Given the description of an element on the screen output the (x, y) to click on. 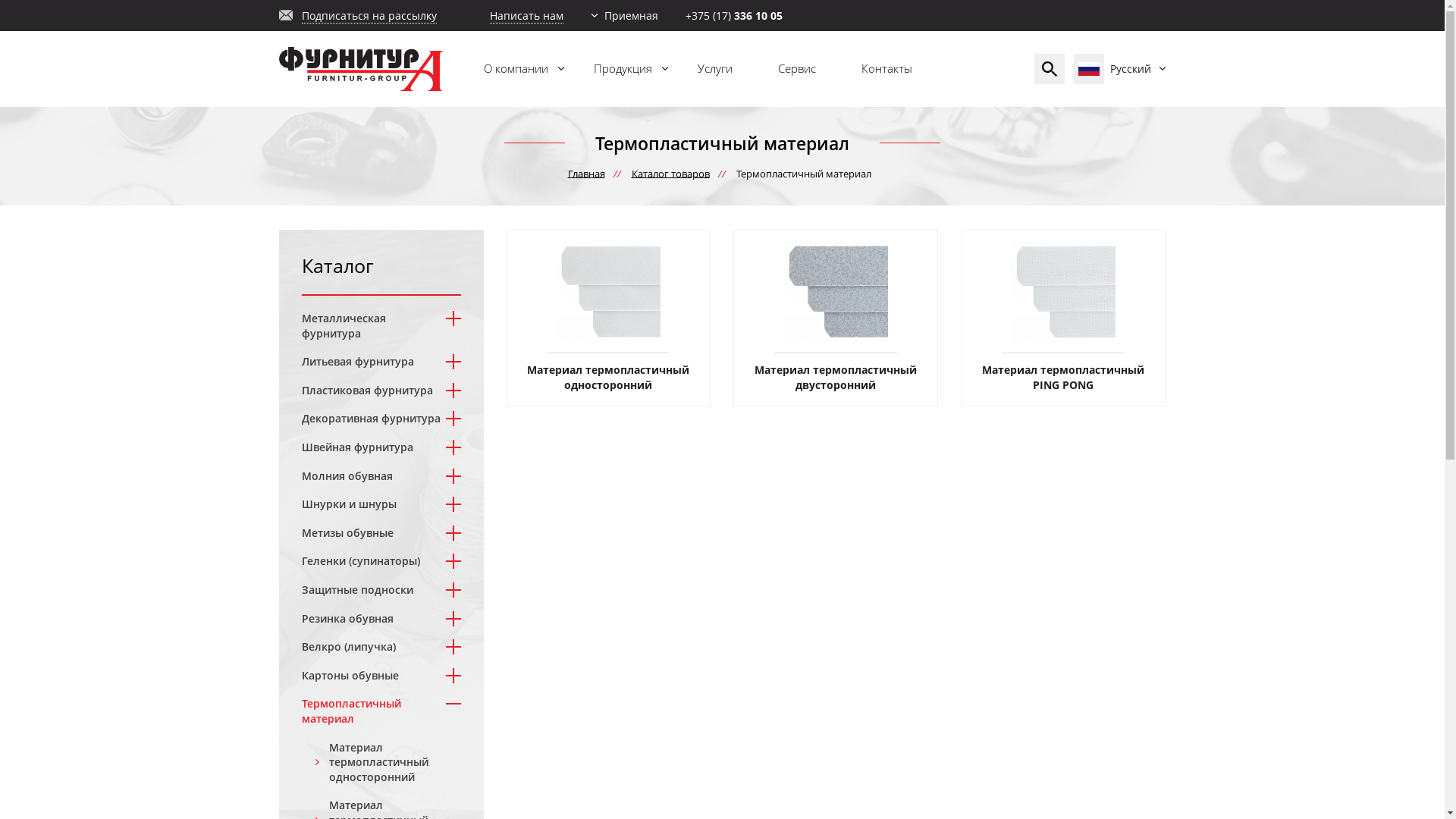
+375 (17) 336 10 05 Element type: text (733, 14)
